Given the description of an element on the screen output the (x, y) to click on. 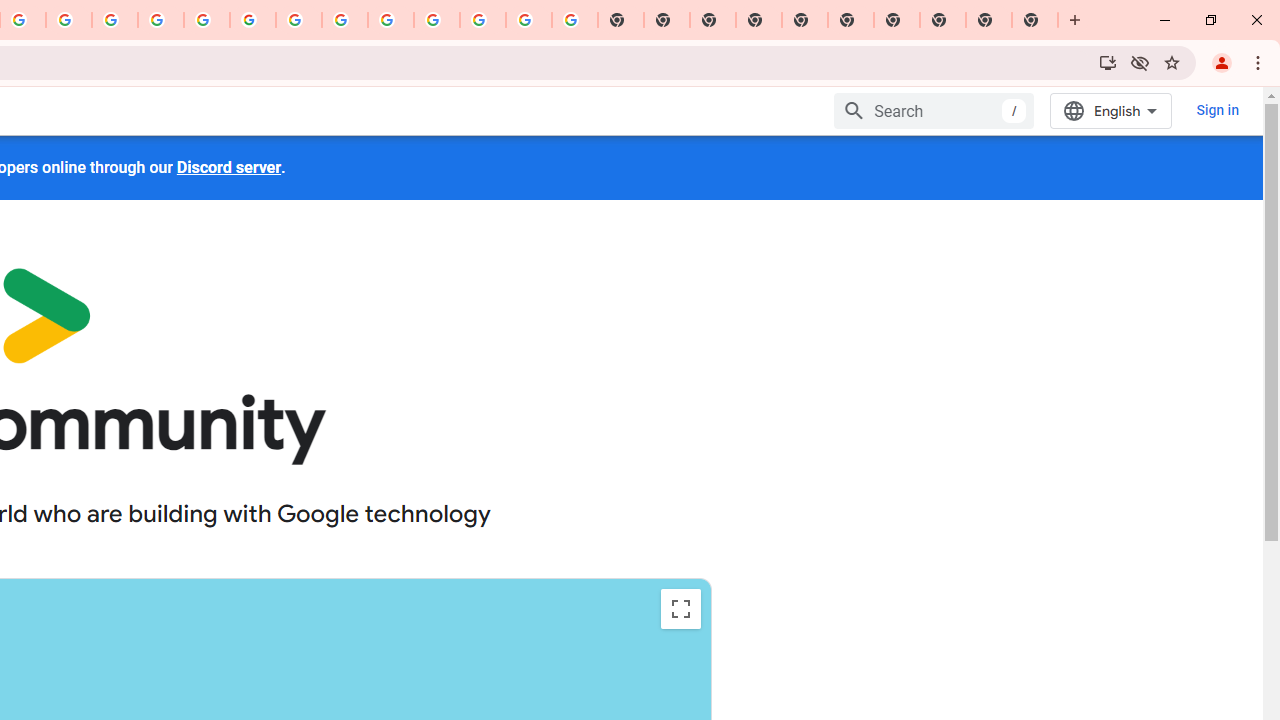
Minimize (1165, 20)
YouTube (299, 20)
Chrome (1260, 62)
Bookmark this tab (1171, 62)
English (1110, 110)
Sign in (1216, 110)
New Tab (759, 20)
Close (1256, 20)
New Tab (1035, 20)
